Given the description of an element on the screen output the (x, y) to click on. 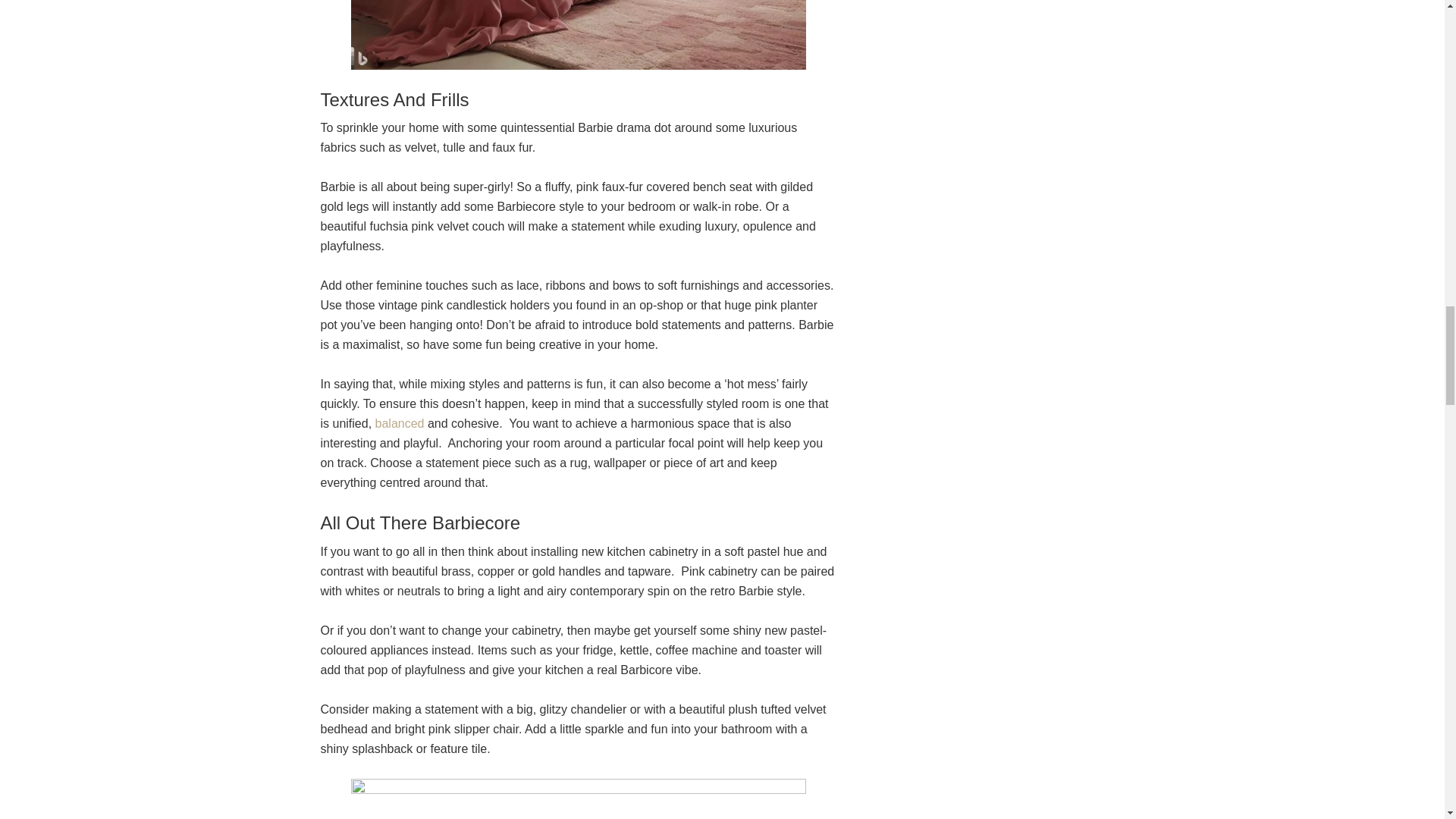
balanced (400, 422)
